Given the description of an element on the screen output the (x, y) to click on. 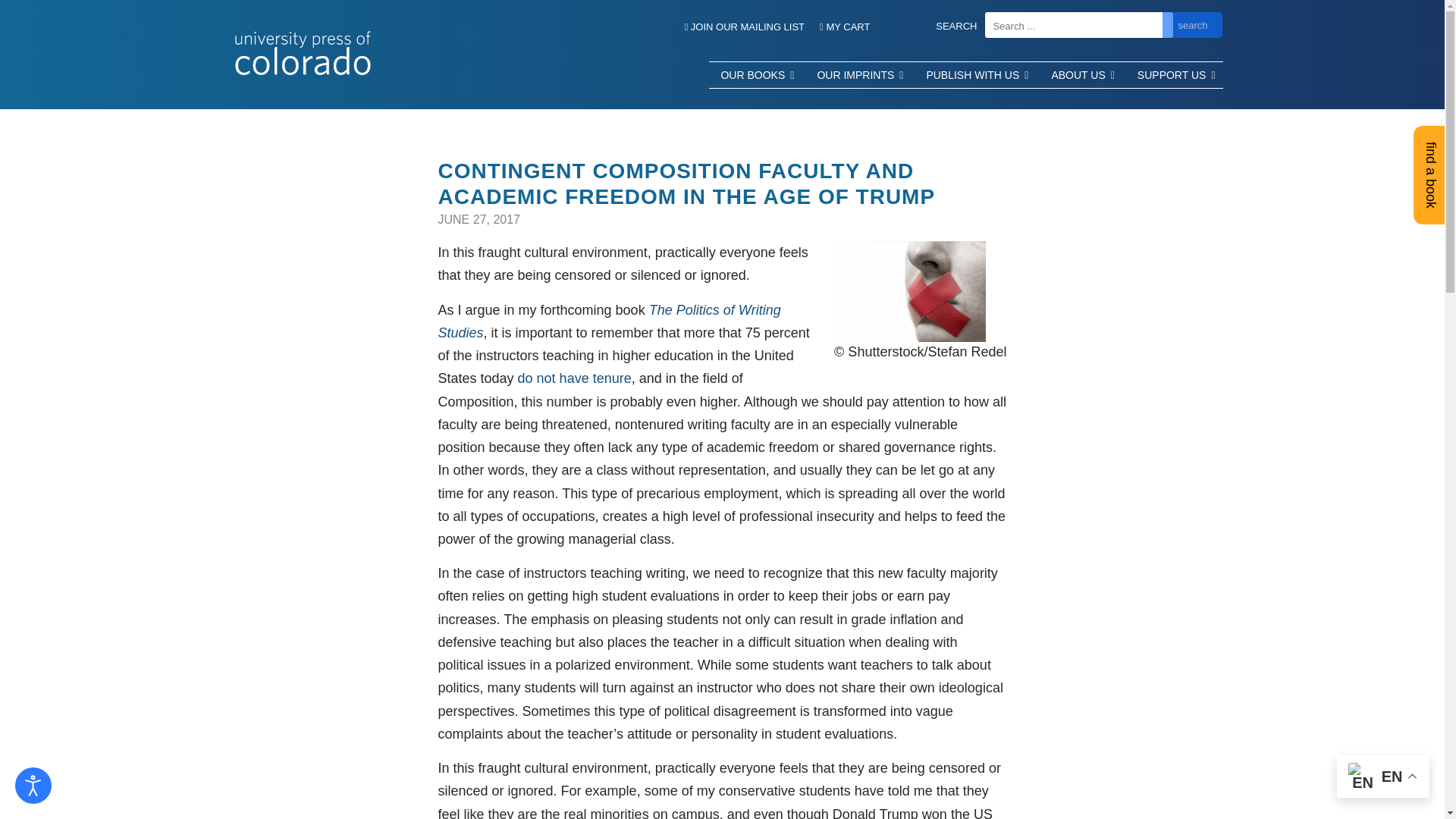
MY CART (844, 26)
OUR BOOKS (757, 74)
search (1192, 24)
OUR IMPRINTS (859, 74)
JOIN OUR MAILING LIST (744, 26)
Open accessibility tools (32, 785)
